Given the description of an element on the screen output the (x, y) to click on. 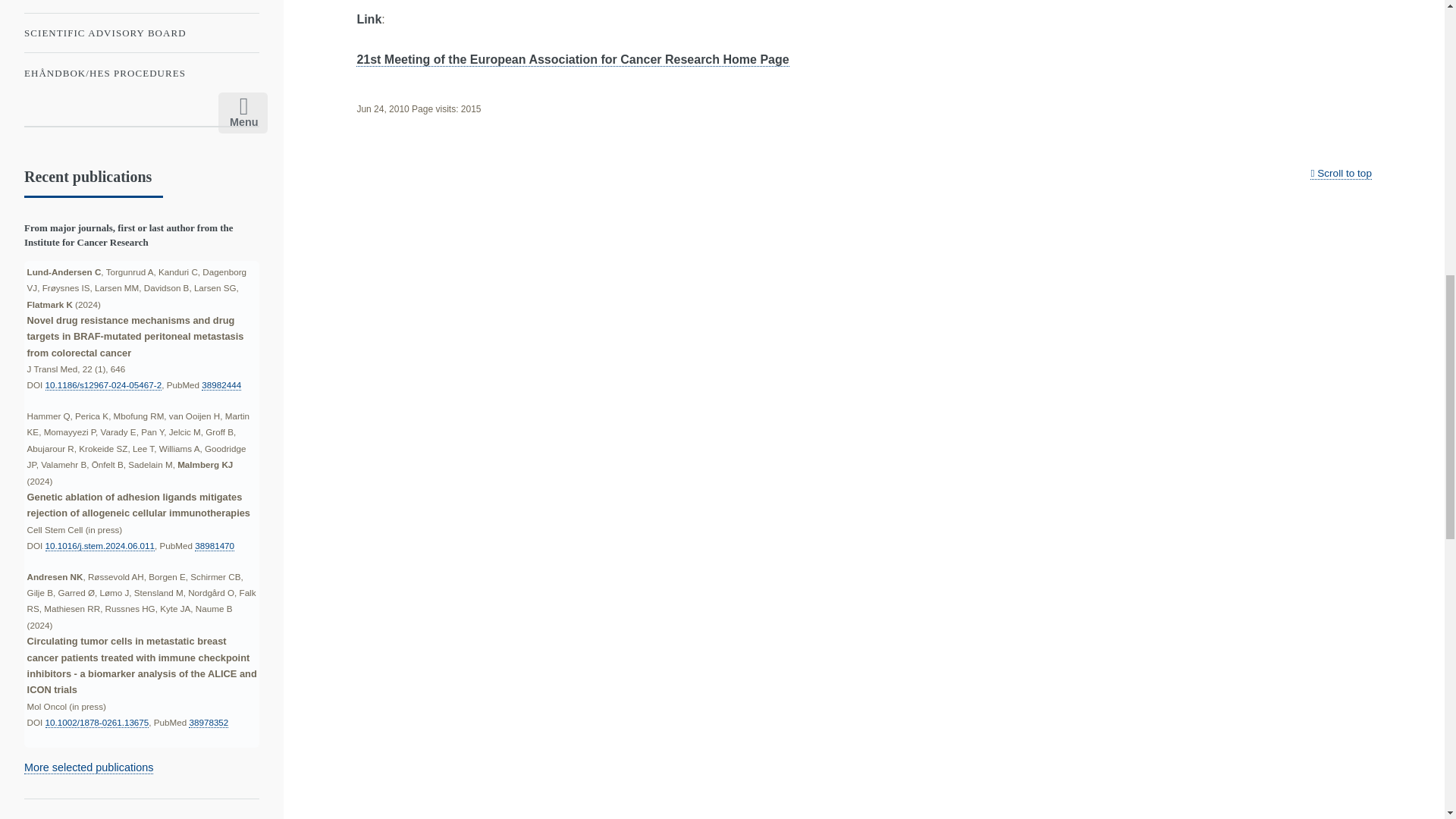
NEWS ARCHIVE (141, 3)
Scroll to top (1340, 173)
38982444 (221, 385)
SCIENTIFIC ADVISORY BOARD (141, 32)
